Given the description of an element on the screen output the (x, y) to click on. 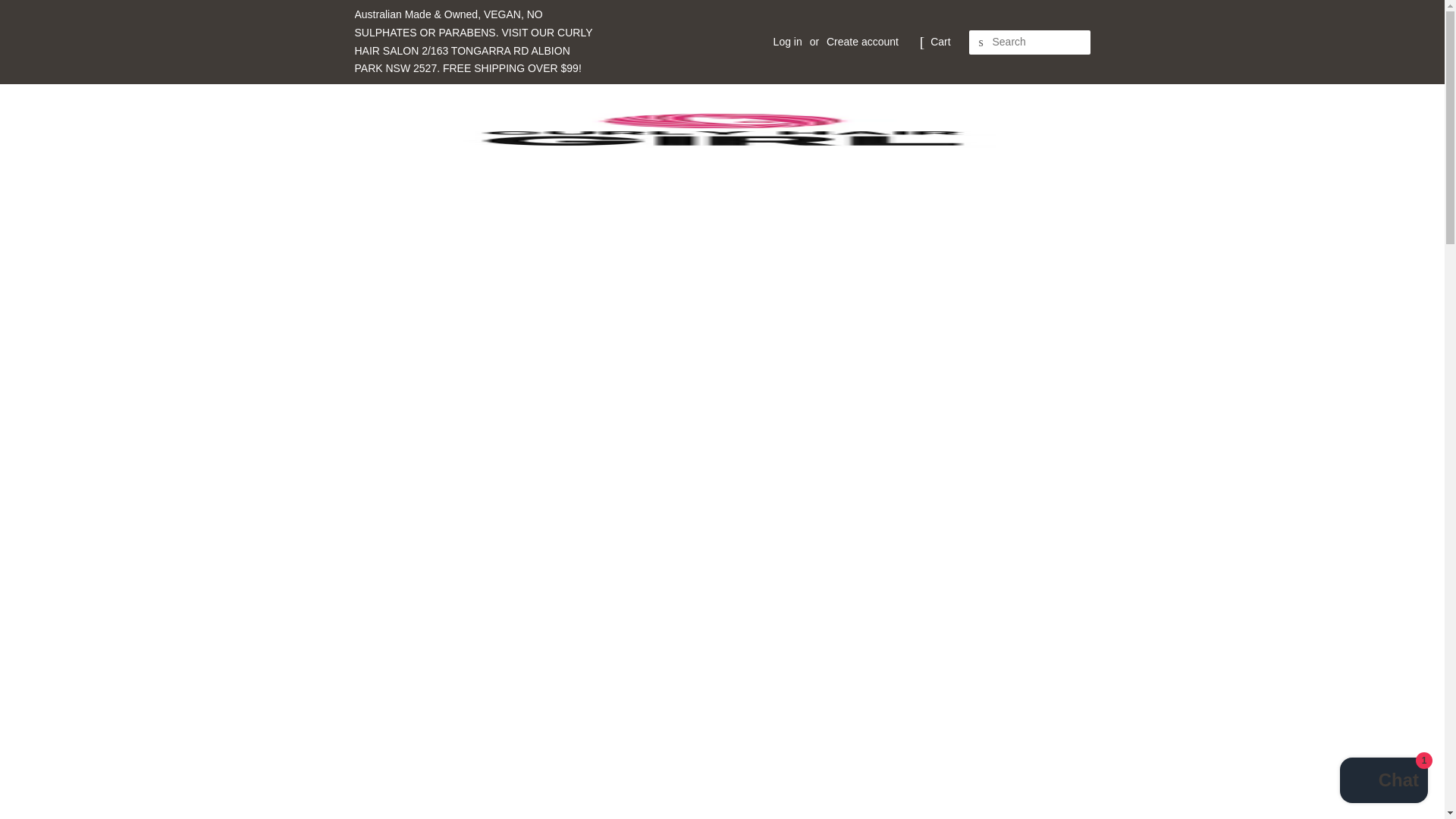
Shopify online store chat (1383, 781)
Search (980, 42)
Log in (787, 41)
Cart (940, 42)
Create account (862, 41)
